Given the description of an element on the screen output the (x, y) to click on. 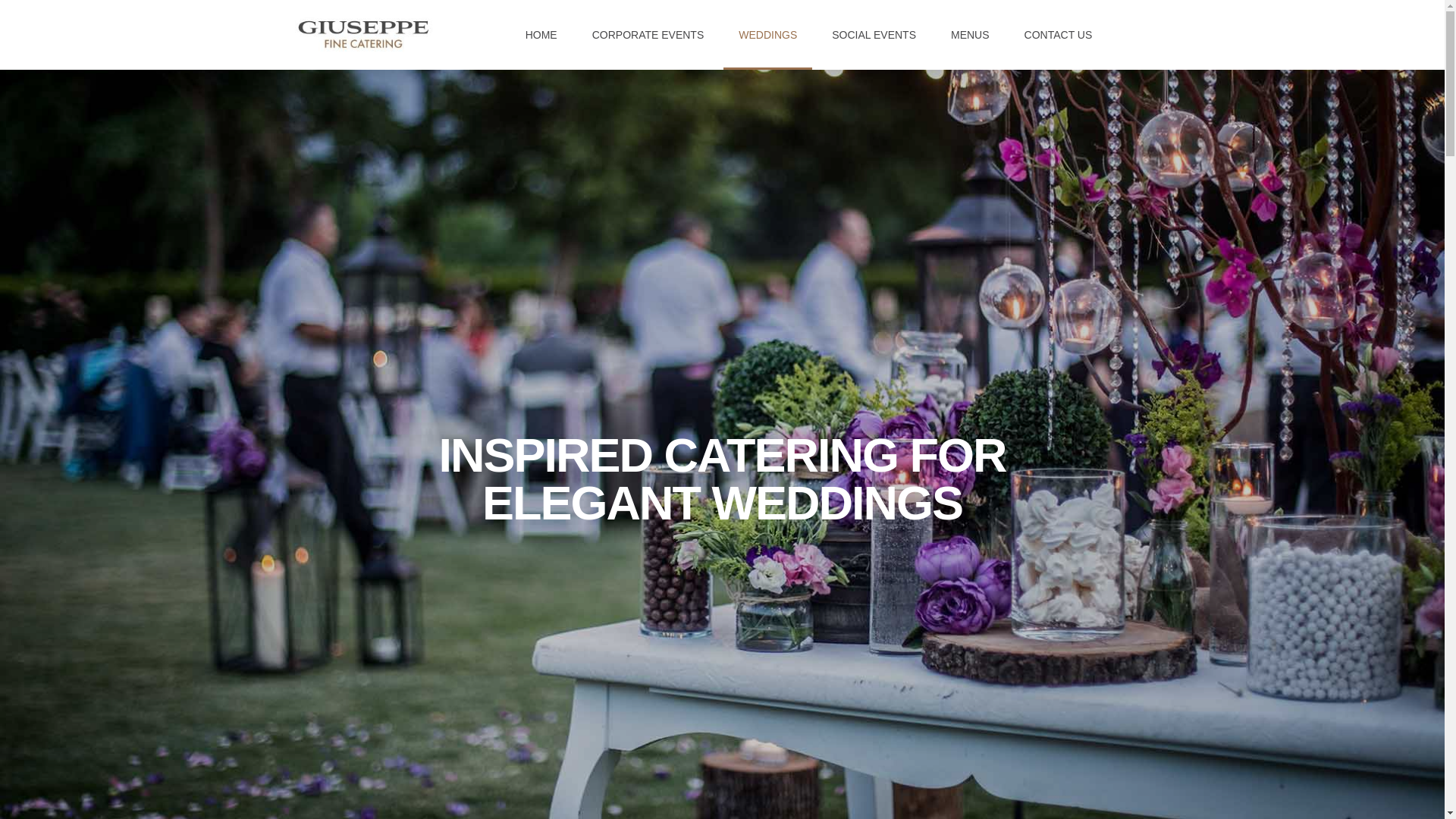
WEDDINGS (767, 34)
CORPORATE EVENTS (647, 34)
CONTACT US (1058, 34)
MENUS (970, 34)
SOCIAL EVENTS (873, 34)
HOME (541, 34)
